Given the description of an element on the screen output the (x, y) to click on. 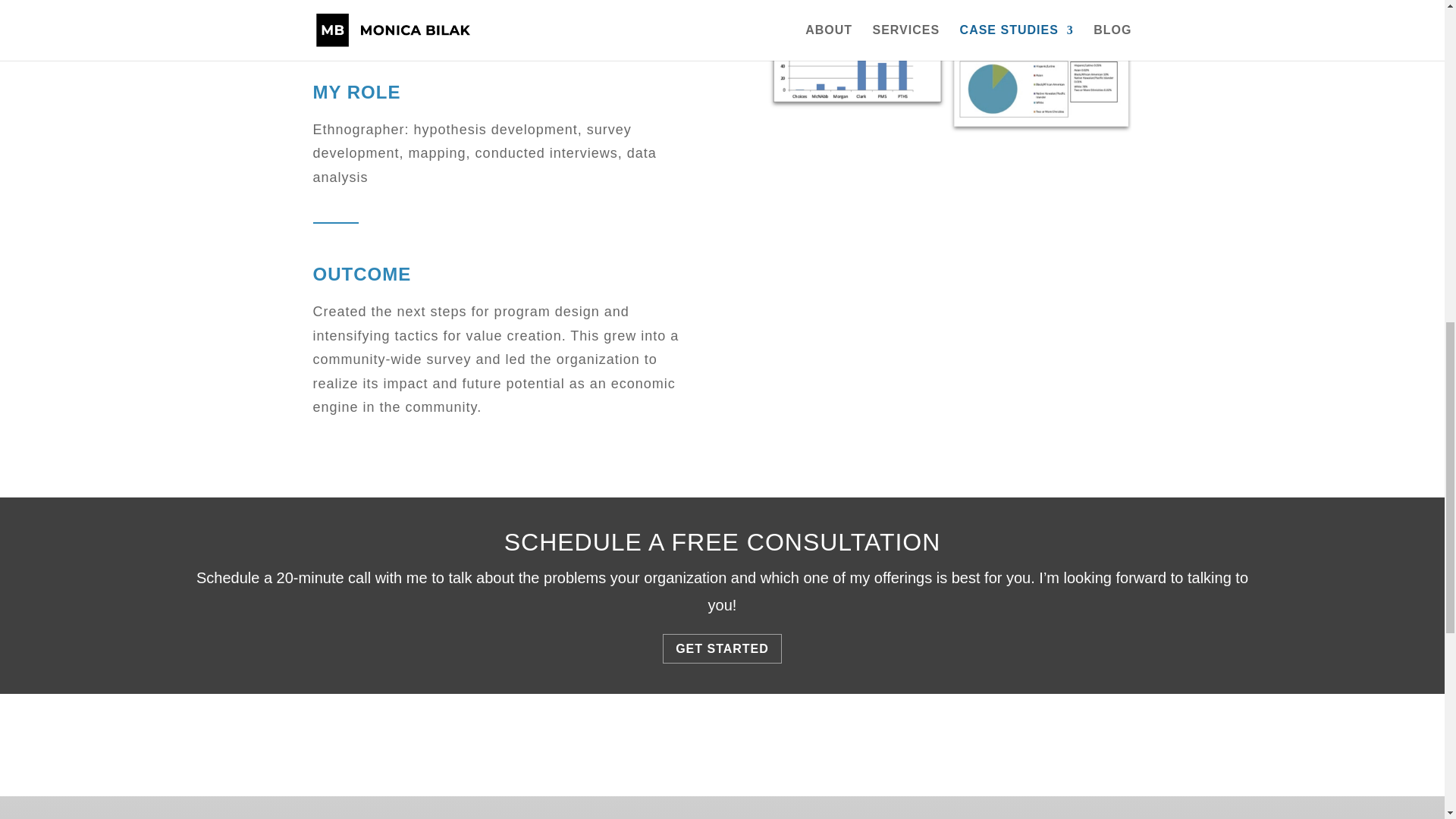
GET STARTED (721, 648)
